Given the description of an element on the screen output the (x, y) to click on. 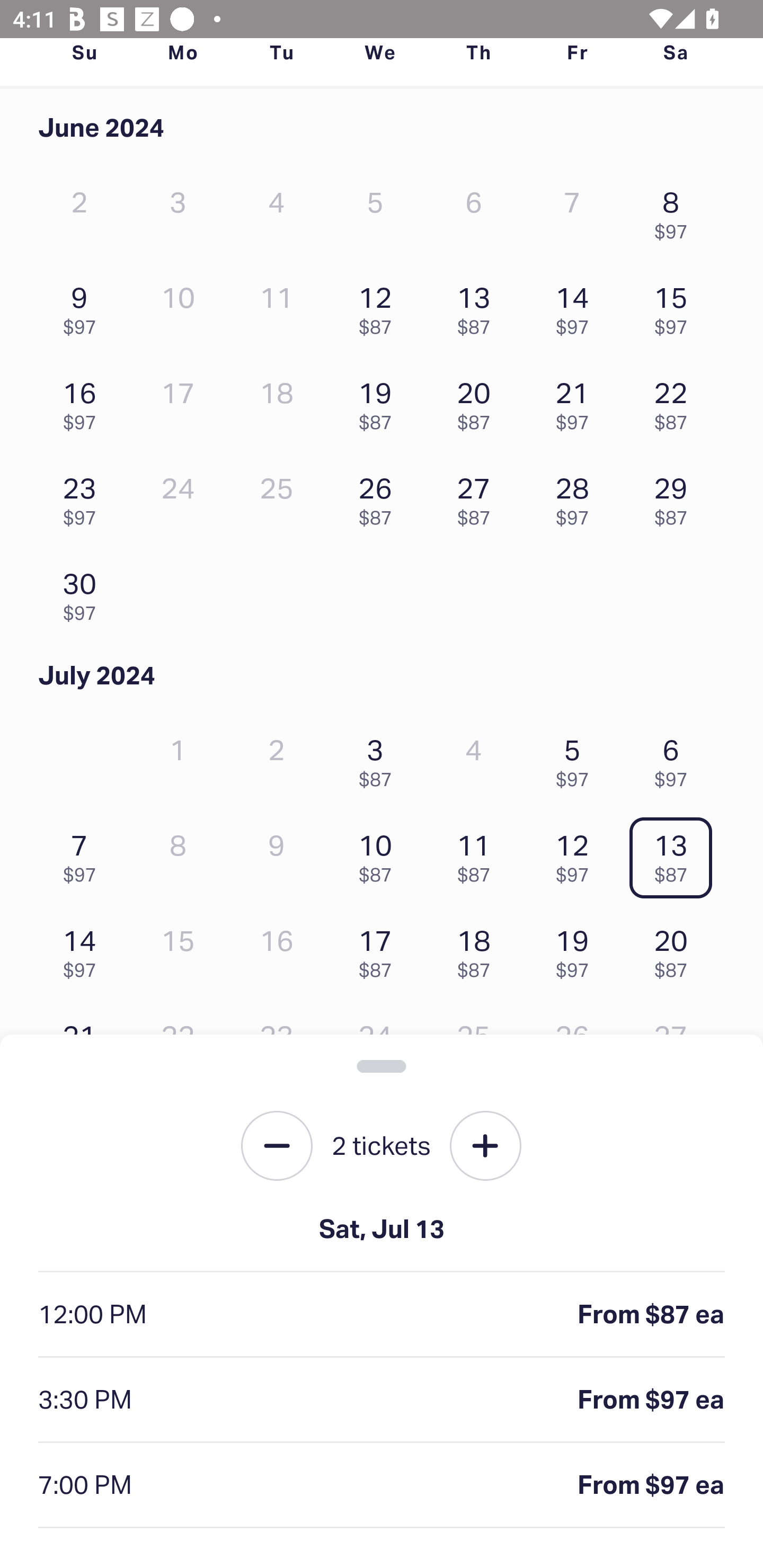
8 $97 (675, 210)
9 $97 (84, 306)
12 $87 (379, 306)
13 $87 (478, 306)
14 $97 (577, 306)
15 $97 (675, 306)
16 $97 (84, 401)
19 $87 (379, 401)
20 $87 (478, 401)
21 $97 (577, 401)
22 $87 (675, 401)
23 $97 (84, 496)
26 $87 (379, 496)
27 $87 (478, 496)
28 $97 (577, 496)
29 $87 (675, 496)
30 $97 (84, 591)
3 $87 (379, 757)
5 $97 (577, 757)
6 $97 (675, 757)
7 $97 (84, 853)
10 $87 (379, 853)
11 $87 (478, 853)
12 $97 (577, 853)
13 $87 (675, 853)
14 $97 (84, 949)
17 $87 (379, 949)
18 $87 (478, 949)
19 $97 (577, 949)
20 $87 (675, 949)
12:00 PM From $87 ea (381, 1314)
3:30 PM From $97 ea (381, 1399)
7:00 PM From $97 ea (381, 1485)
